Given the description of an element on the screen output the (x, y) to click on. 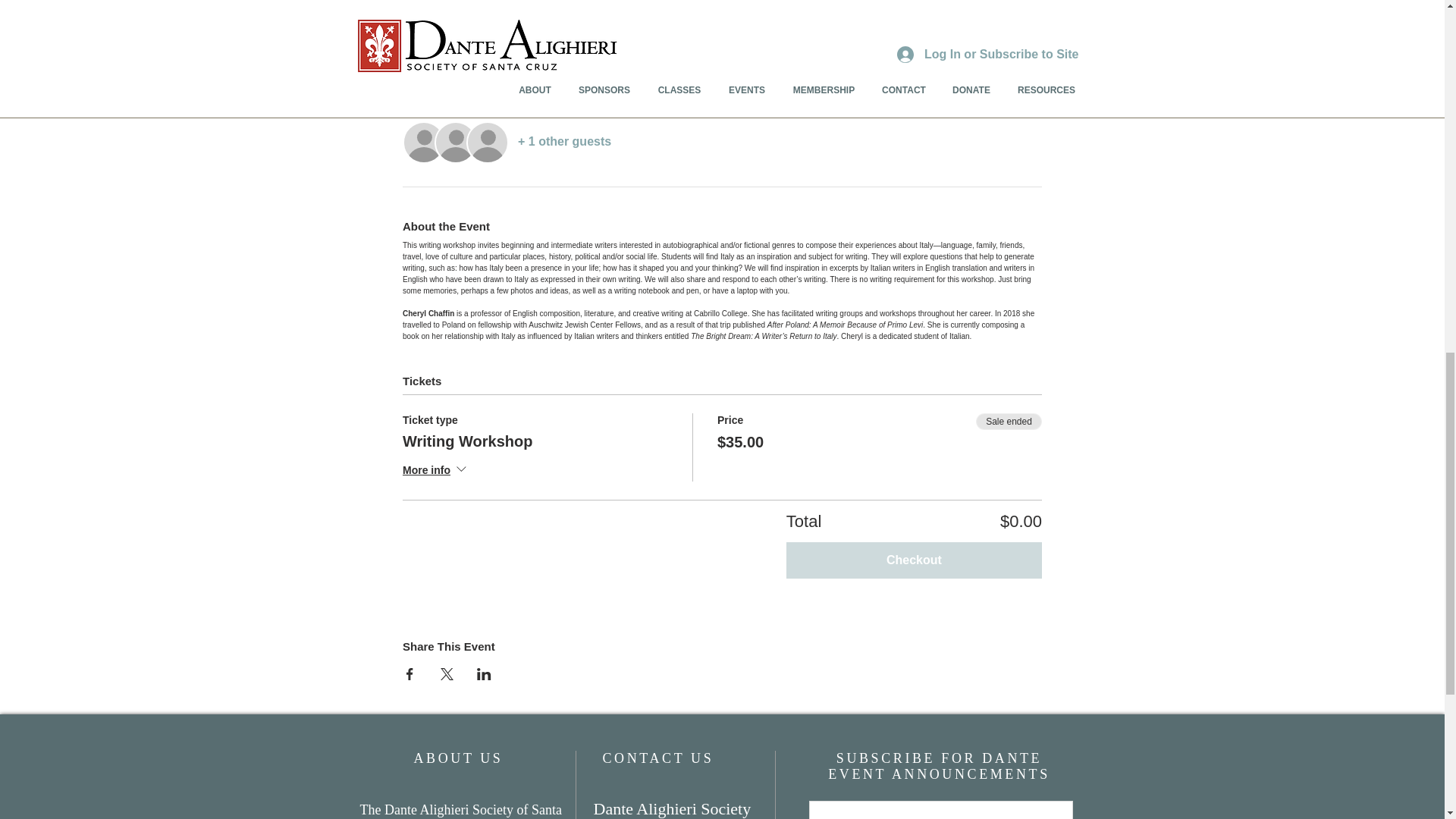
Checkout (914, 560)
CONTACT US (657, 758)
More info (435, 471)
